Given the description of an element on the screen output the (x, y) to click on. 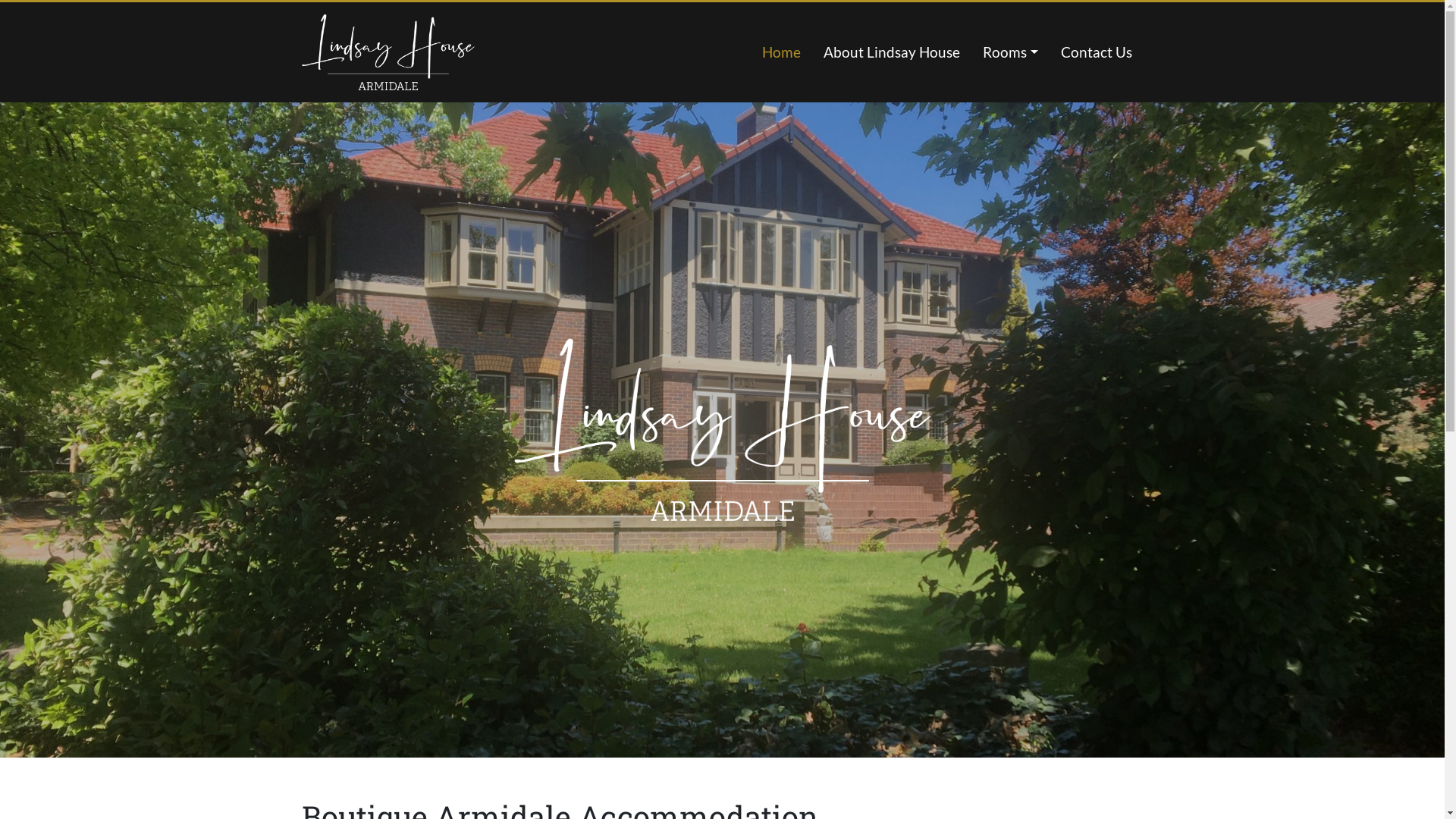
Home Element type: text (781, 51)
Rooms Element type: text (1010, 51)
Contact Us Element type: text (1096, 51)
About Lindsay House Element type: text (891, 51)
Skip to content Element type: text (1443, 0)
